Given the description of an element on the screen output the (x, y) to click on. 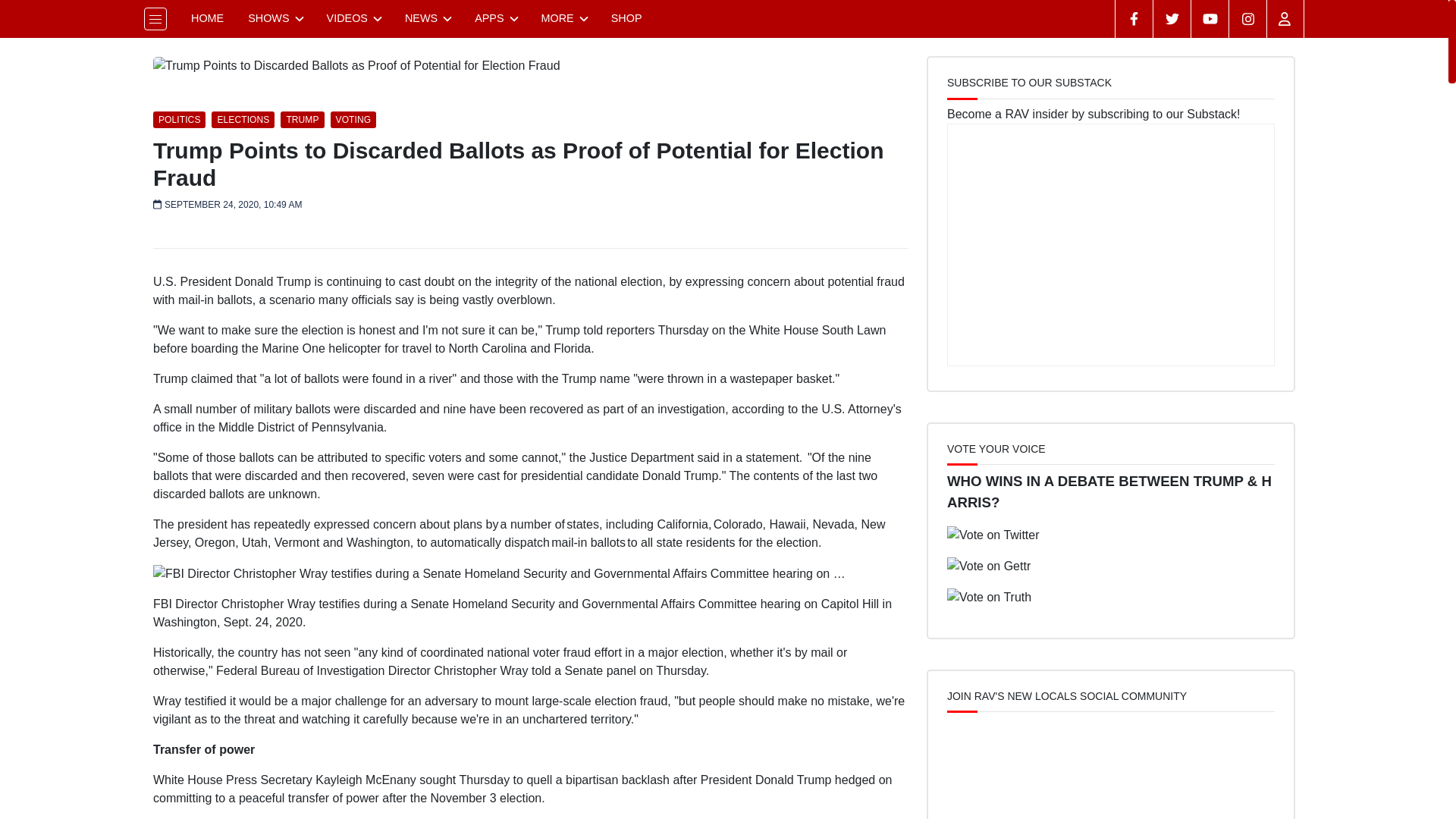
Instagram (1247, 18)
Login (1285, 18)
VIDEOS (353, 18)
YouTube (1209, 18)
SHOWS (274, 18)
MORE (563, 18)
Twitter (1172, 18)
NEWS (428, 18)
APPS (495, 18)
Facebook (1134, 18)
HOME (207, 18)
